Given the description of an element on the screen output the (x, y) to click on. 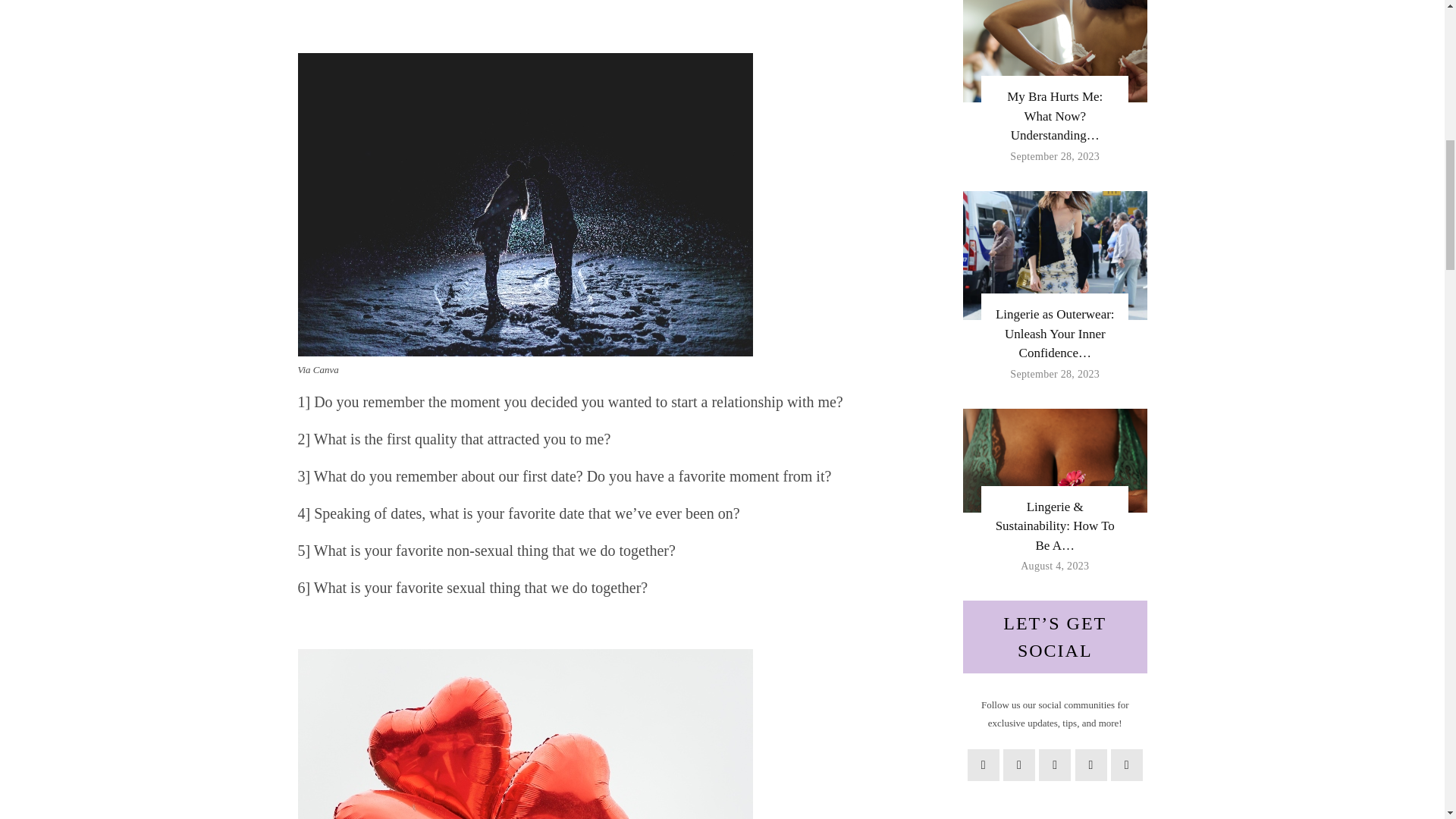
Pinterest (1054, 765)
Twitter (1019, 765)
Facebook (983, 765)
